Given the description of an element on the screen output the (x, y) to click on. 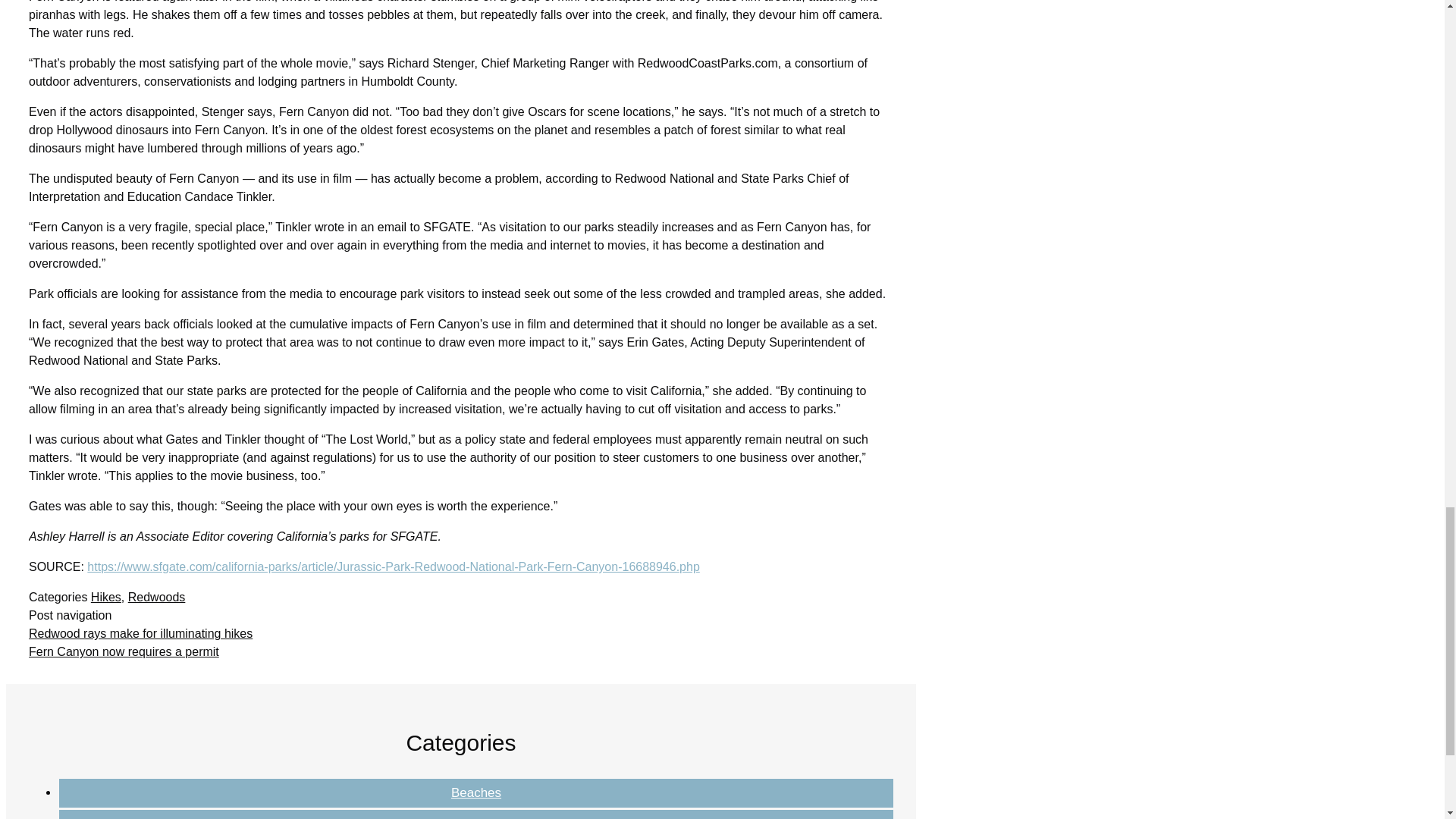
Hikes (476, 817)
Hikes (105, 596)
Next (124, 651)
Beaches (475, 792)
Previous (140, 633)
Redwoods (157, 596)
Redwood rays make for illuminating hikes (140, 633)
Fern Canyon now requires a permit (124, 651)
